Given the description of an element on the screen output the (x, y) to click on. 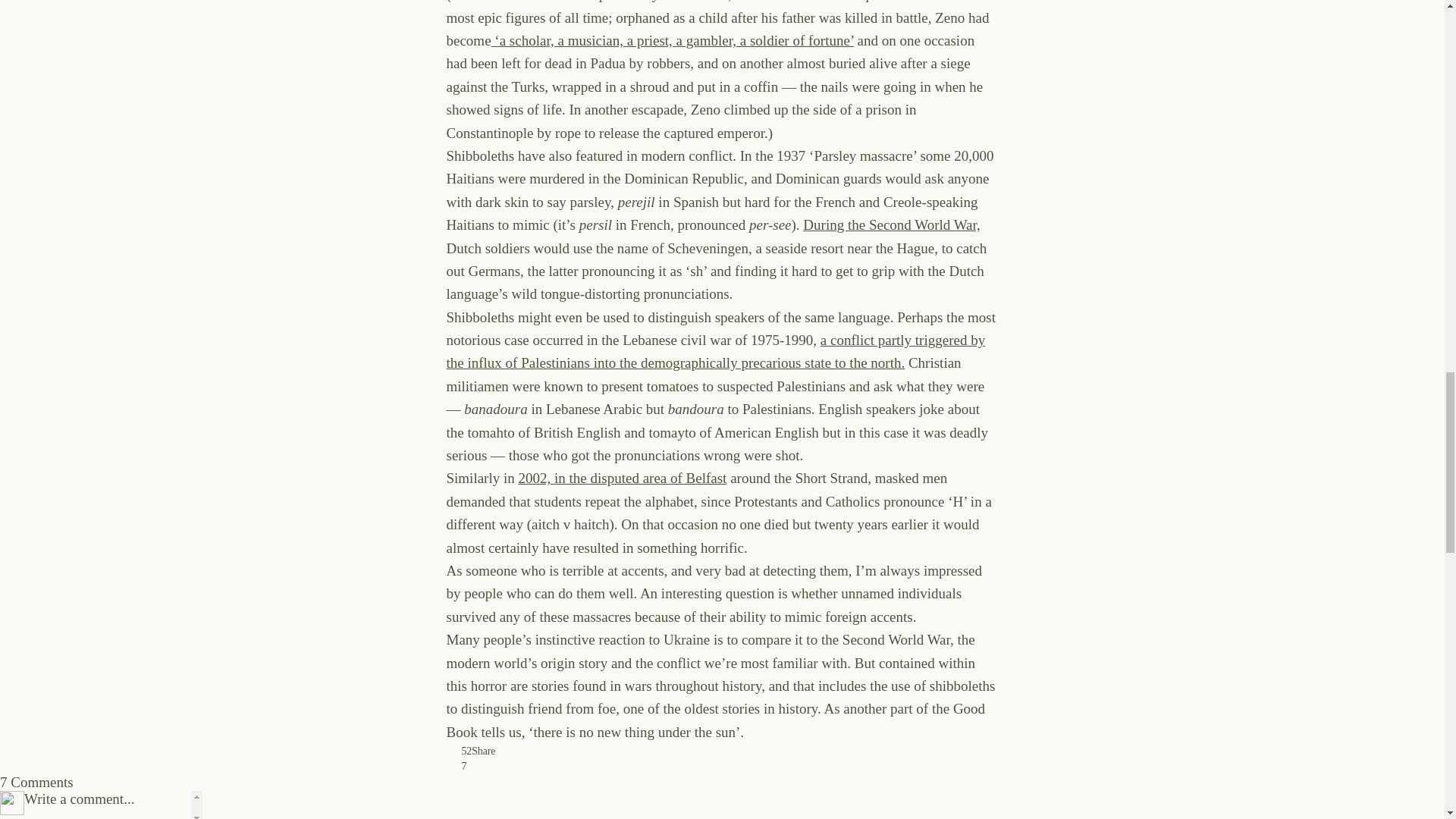
52 (458, 751)
Share (483, 751)
7 (458, 766)
During the Second World War, (891, 224)
2002, in the disputed area of Belfast (622, 478)
